Given the description of an element on the screen output the (x, y) to click on. 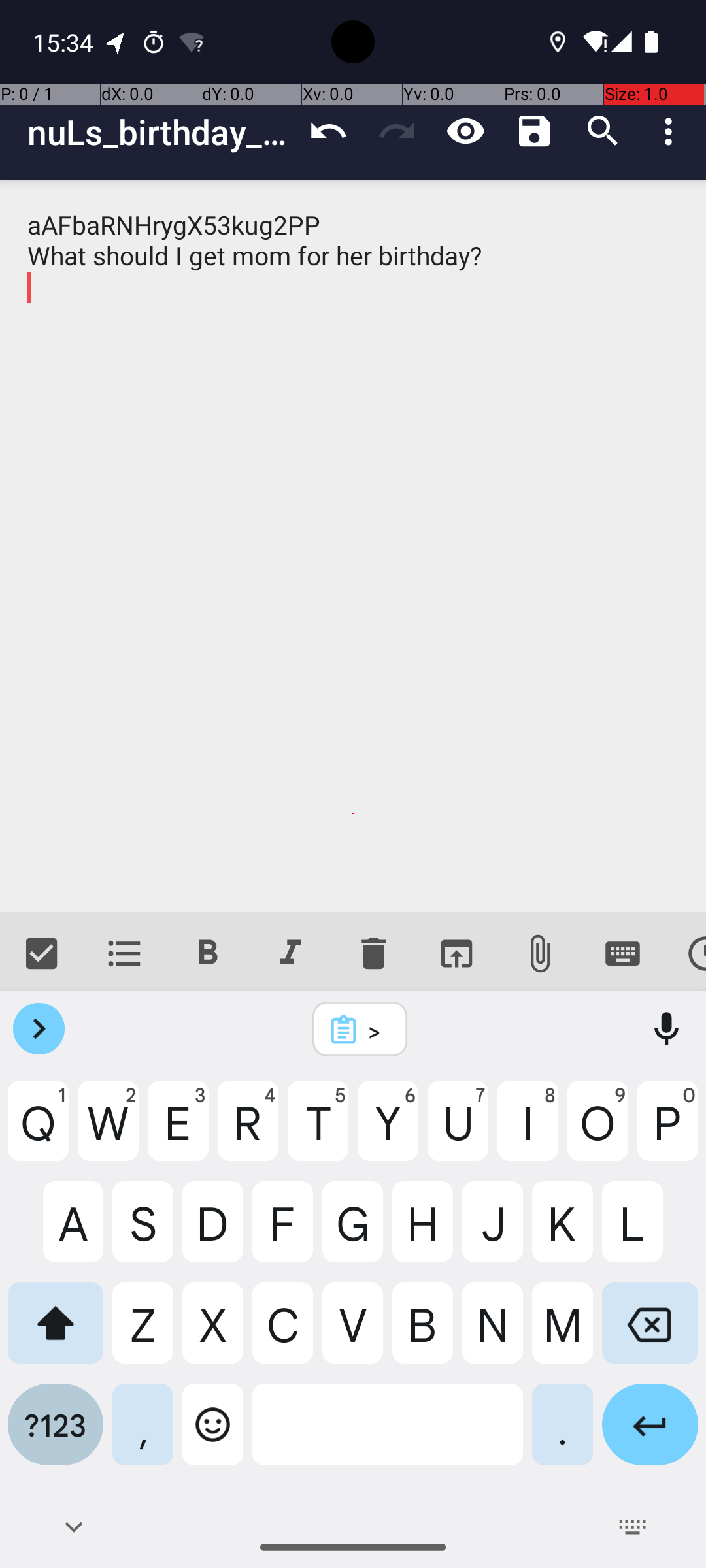
nuLs_birthday_gift_ideas_mom Element type: android.widget.TextView (160, 131)
aAFbaRNHrygX53kug2PP
What should I get mom for her birthday?
 Element type: android.widget.EditText (353, 545)
>  Element type: android.widget.TextView (377, 1029)
